Given the description of an element on the screen output the (x, y) to click on. 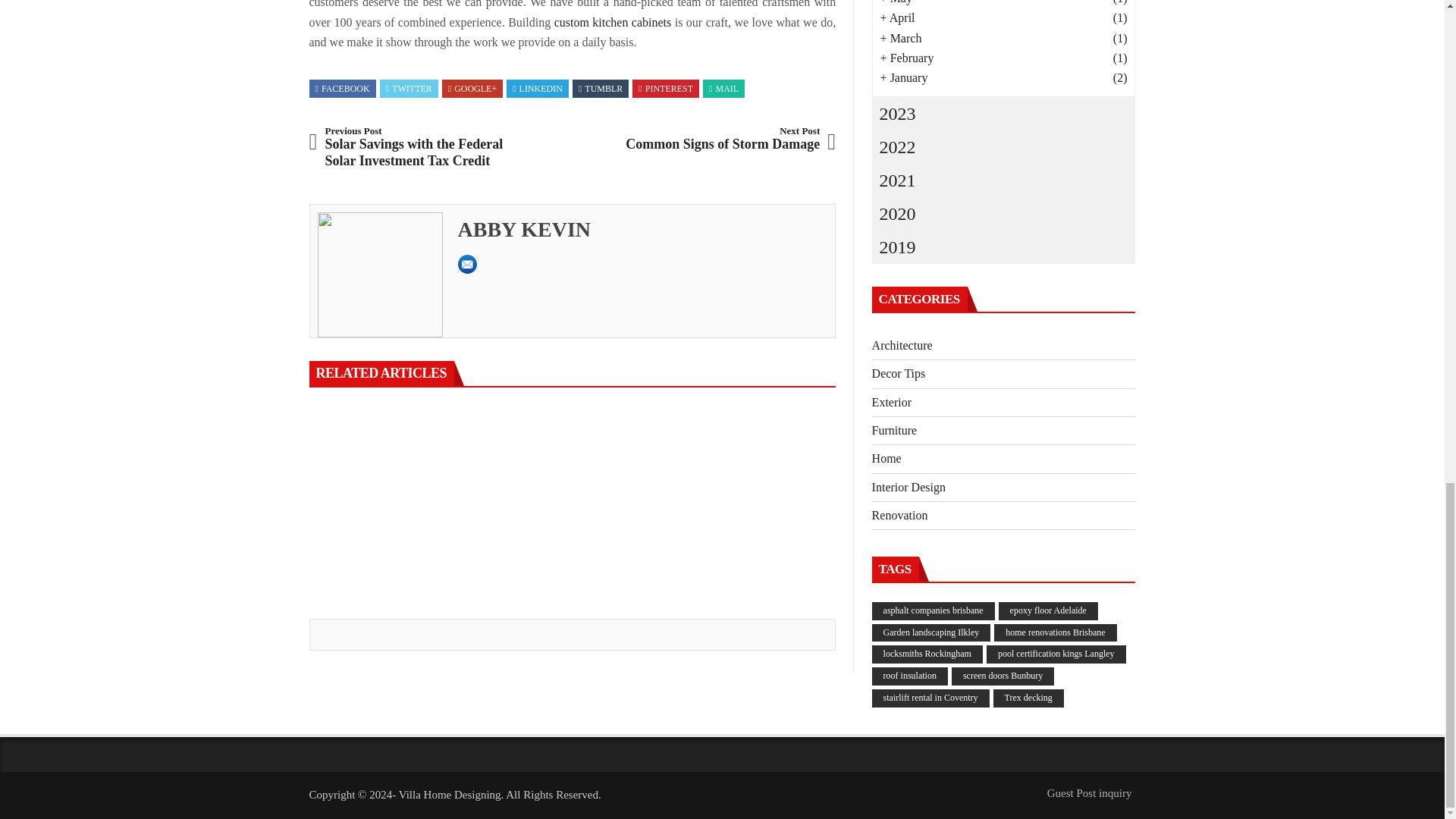
Twitter (408, 88)
TWITTER (408, 88)
Pinterest (666, 88)
custom kitchen cabinets (612, 21)
LINKEDIN (537, 88)
Mail (723, 88)
Facebook (342, 88)
PINTEREST (666, 88)
LinkedIn (537, 88)
TUMBLR (600, 88)
FACEBOOK (342, 88)
Tumblr (600, 88)
Google Plus (472, 88)
